Given the description of an element on the screen output the (x, y) to click on. 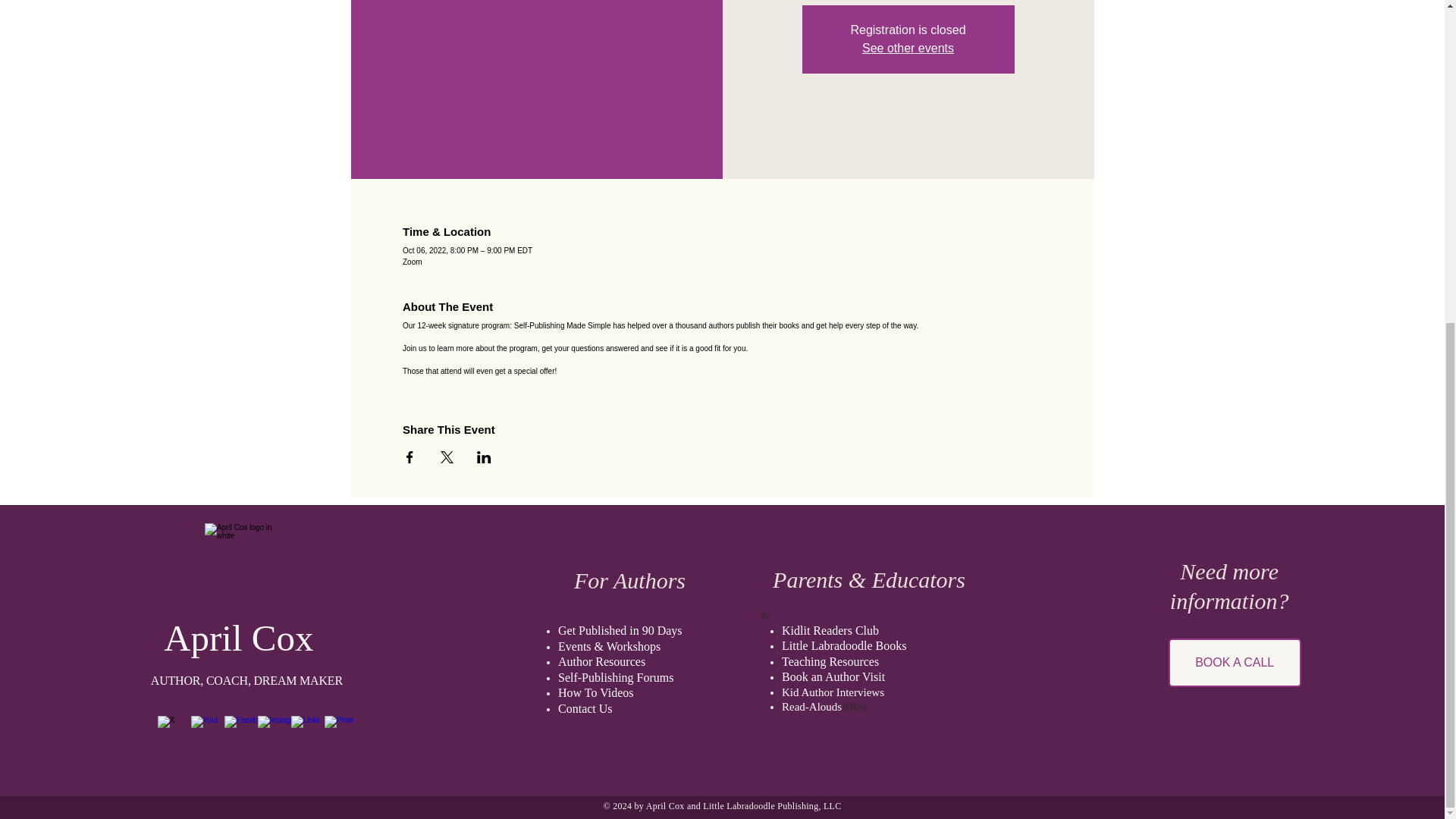
See other events (907, 47)
Author Resources (601, 662)
Self-Publishing Forums (614, 677)
Get Published in 90 Days (619, 630)
